Given the description of an element on the screen output the (x, y) to click on. 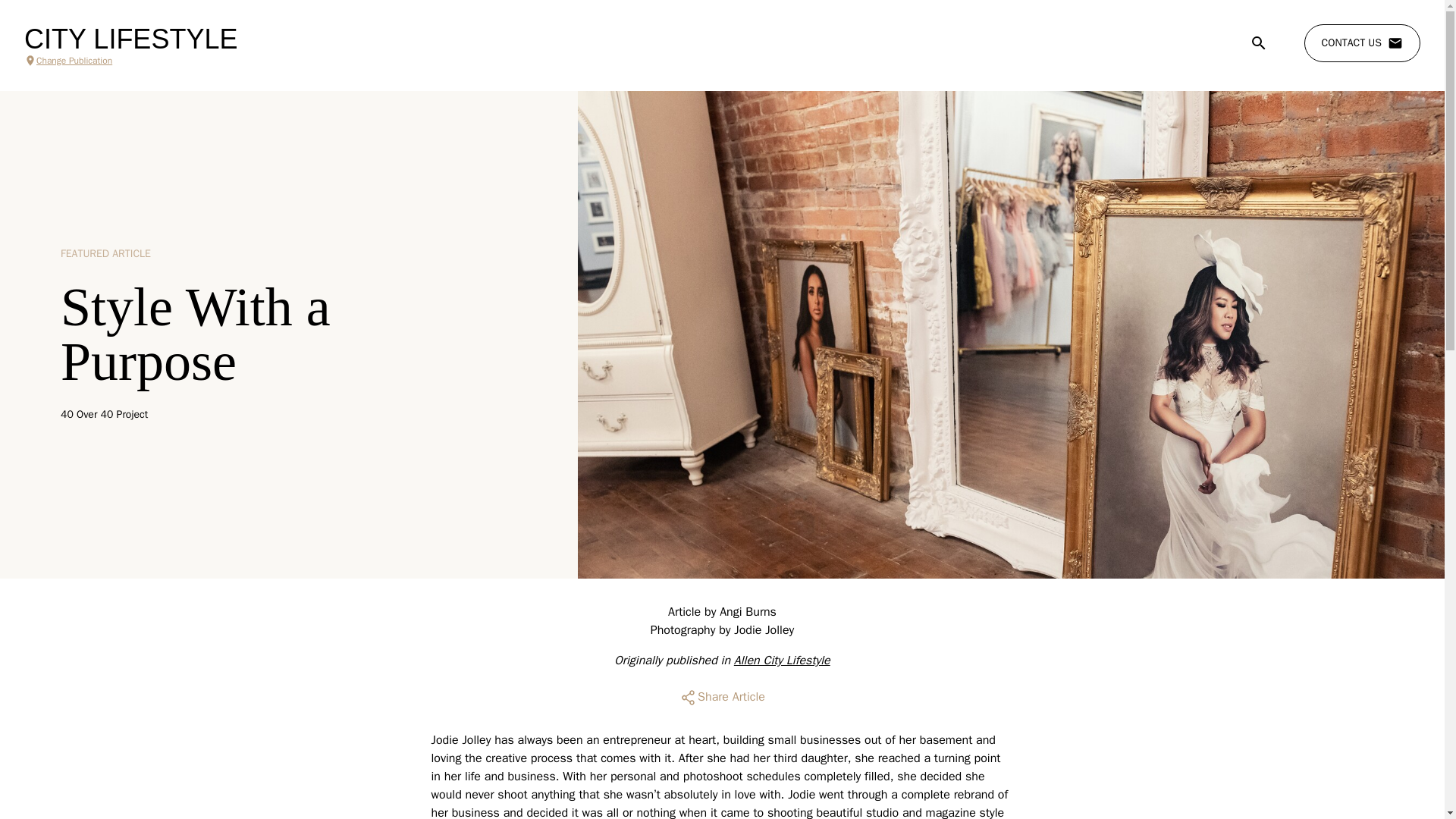
CONTACT US (1362, 43)
Change Publication (130, 60)
Share Article (722, 696)
CITY LIFESTYLE (130, 39)
Allen City Lifestyle (781, 660)
